Given the description of an element on the screen output the (x, y) to click on. 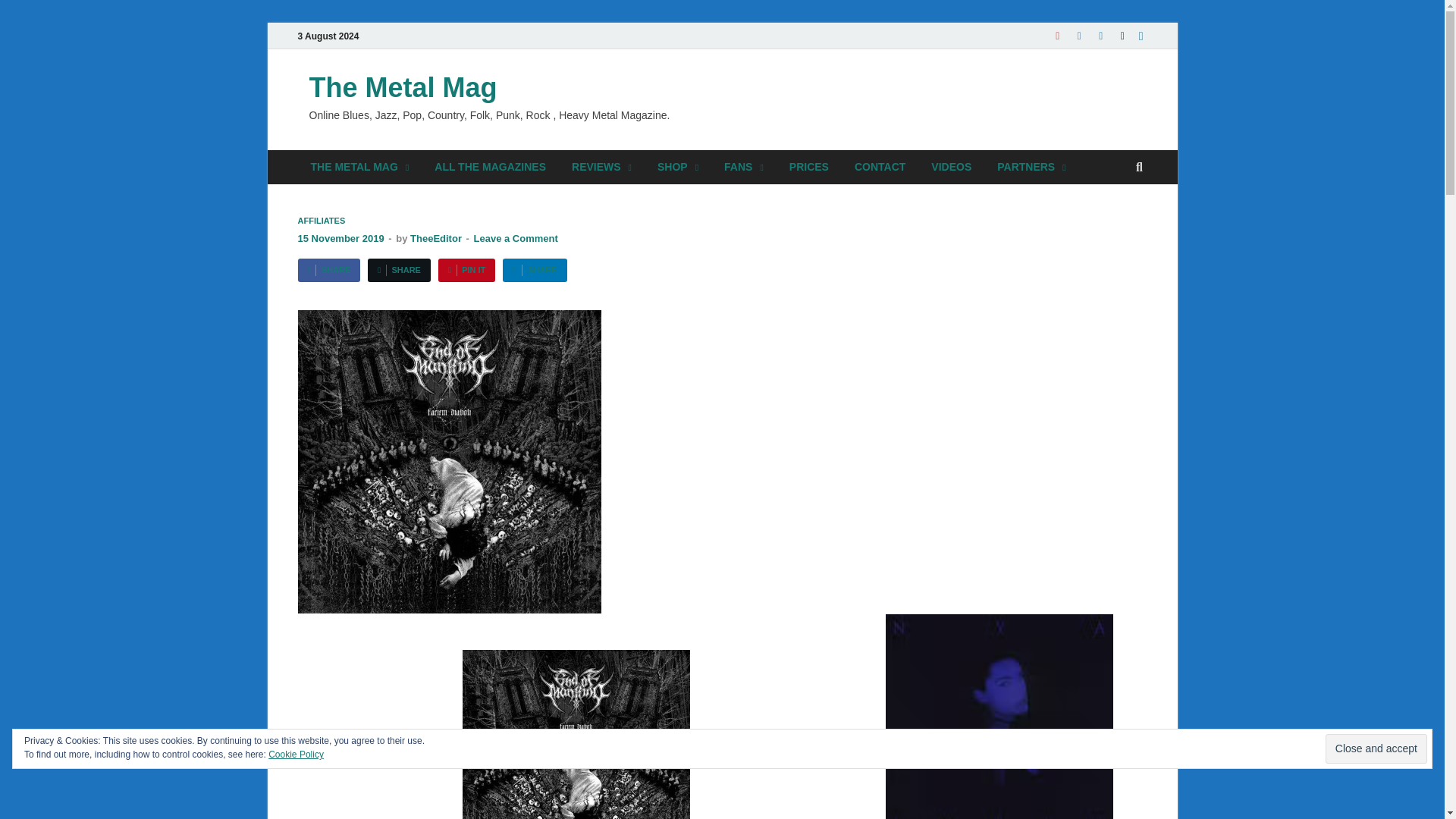
Close and accept (1375, 748)
PRICES (808, 166)
PARTNERS (1031, 166)
SHARE (328, 269)
The Metal Mag (402, 87)
SHOP (678, 166)
REVIEWS (602, 166)
SHARE (399, 269)
Leave a Comment (515, 238)
CONTACT (879, 166)
SHARE (534, 269)
PIN IT (466, 269)
15 November 2019 (340, 238)
VIDEOS (951, 166)
FANS (743, 166)
